Given the description of an element on the screen output the (x, y) to click on. 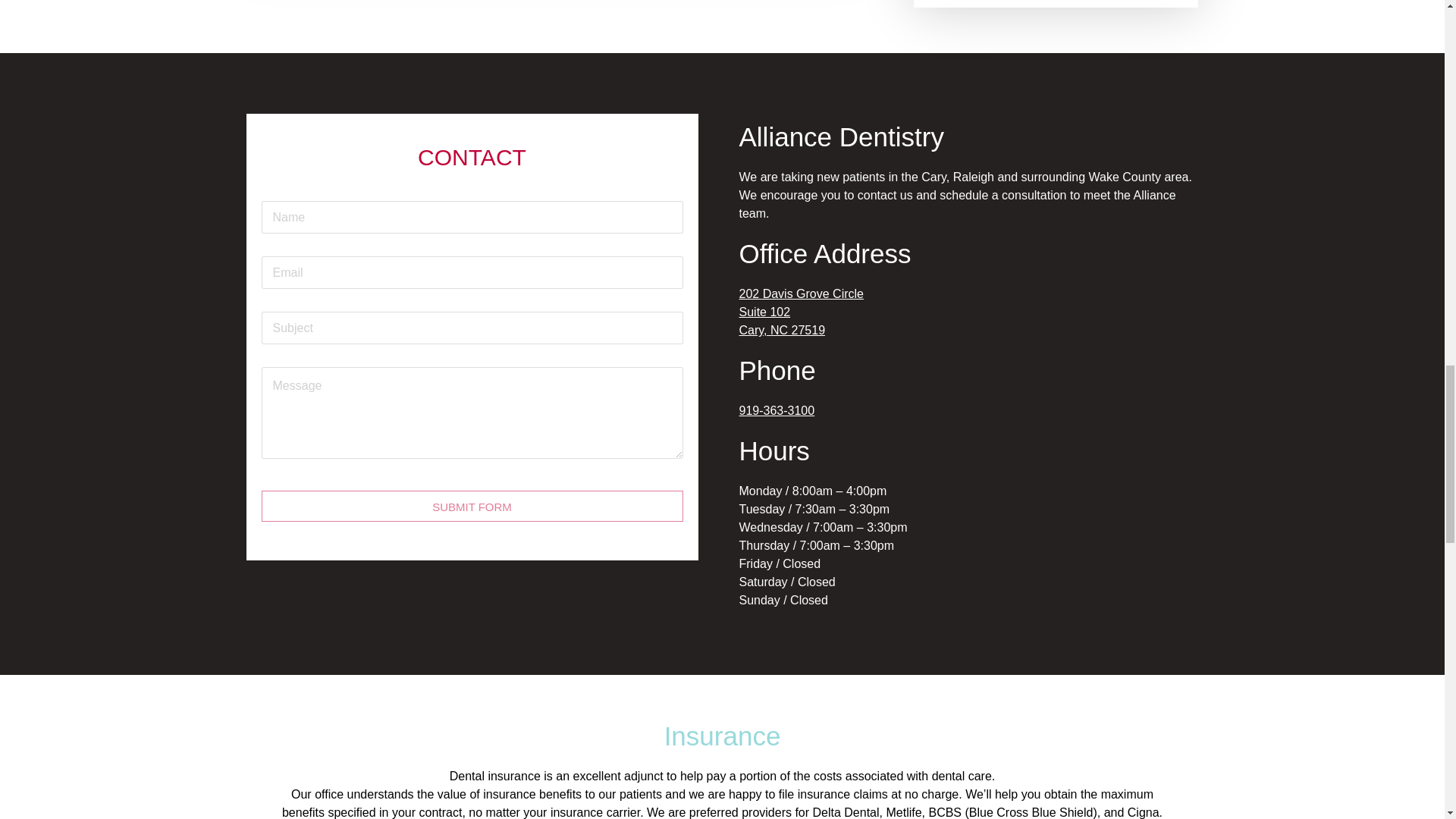
SUBMIT FORM (471, 505)
919-363-3100 (775, 410)
